Given the description of an element on the screen output the (x, y) to click on. 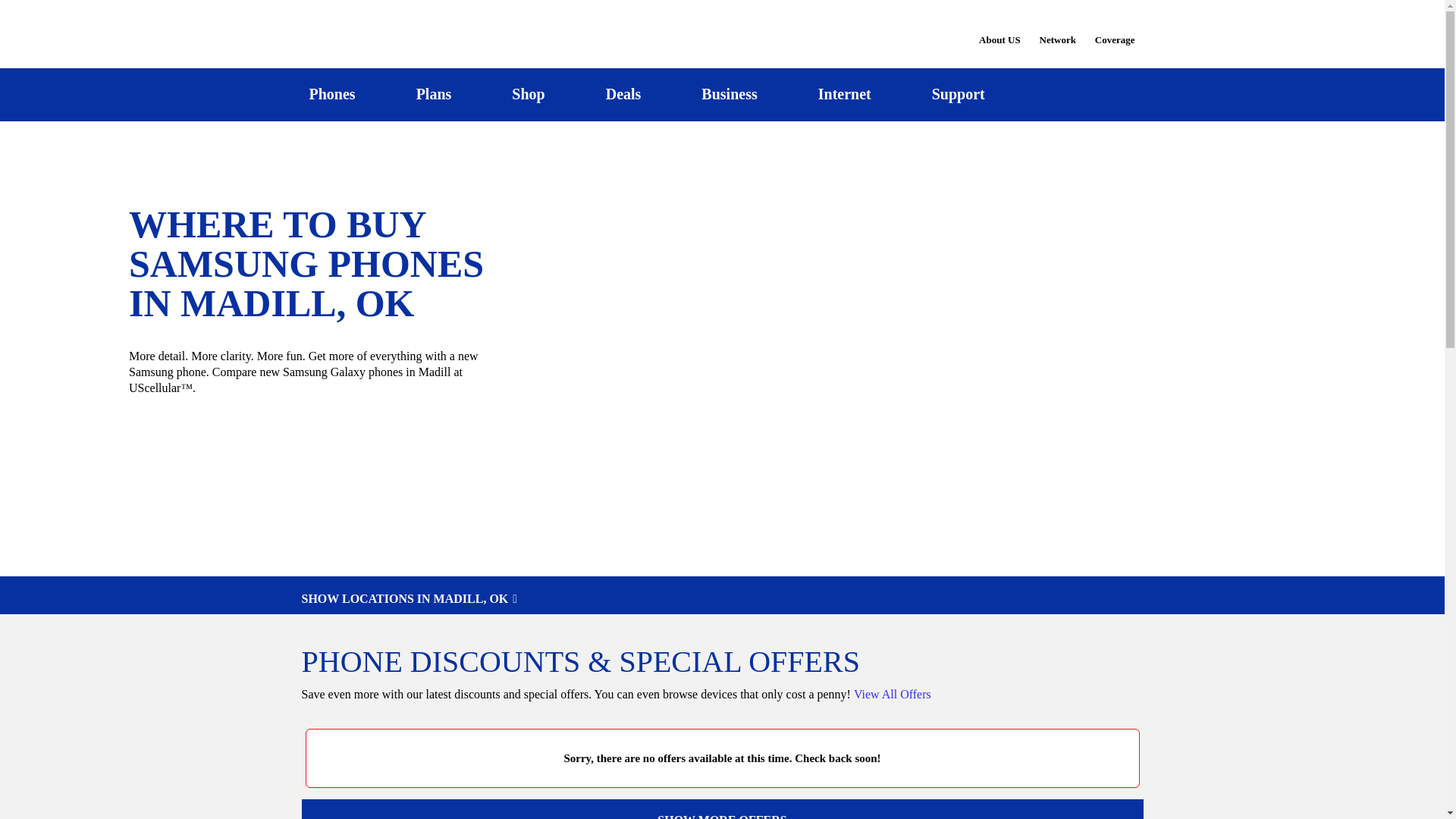
SHOW LOCATIONS IN MADILL, OK (722, 598)
Support (957, 94)
Coverage (1115, 29)
Network (1057, 30)
Deals (623, 94)
Business (729, 94)
About US (999, 30)
Phones (332, 94)
Internet (844, 94)
Shop (528, 94)
Plans (433, 94)
